Given the description of an element on the screen output the (x, y) to click on. 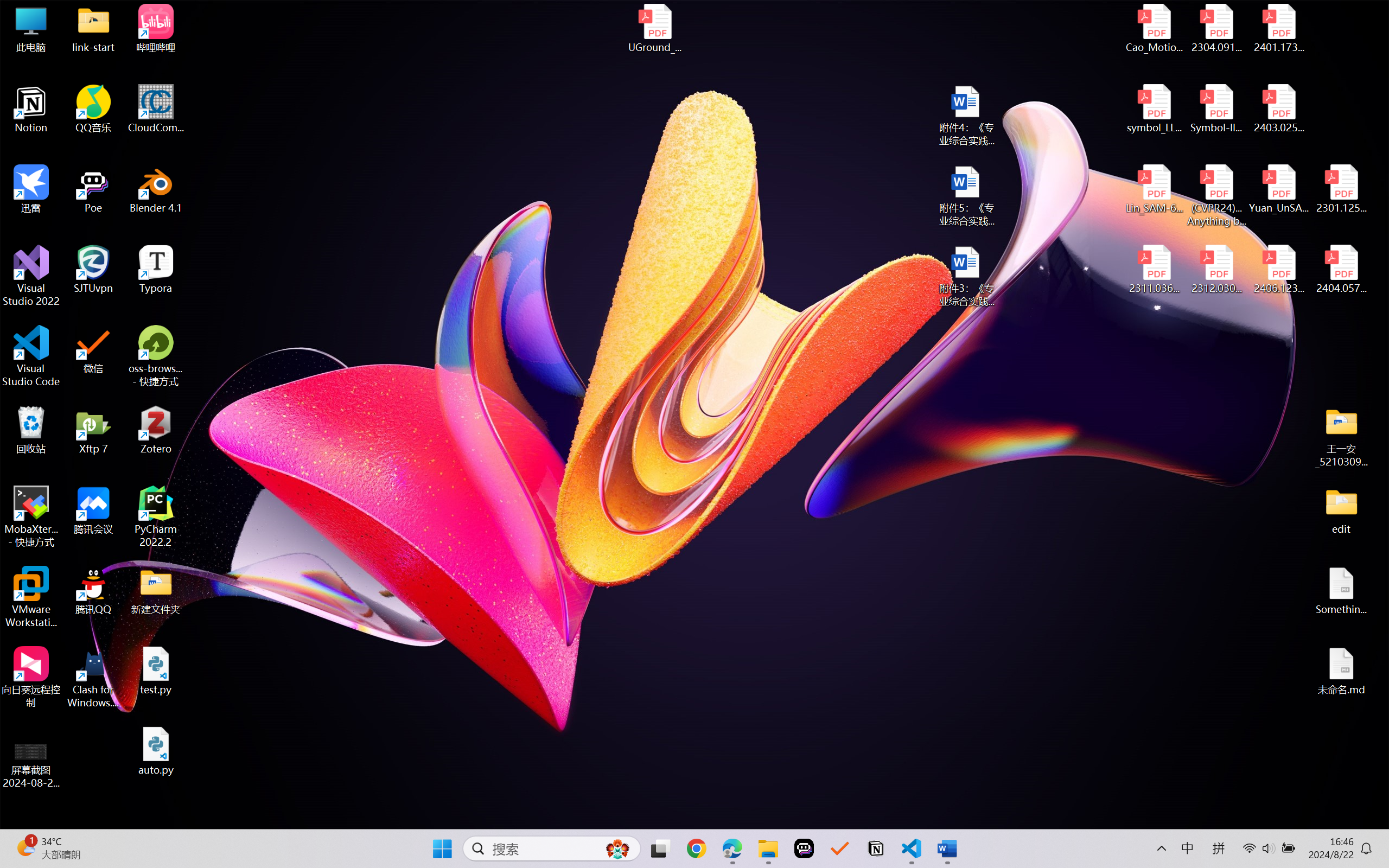
symbol_LLM.pdf (1154, 109)
Something.md (1340, 591)
2301.12597v3.pdf (1340, 189)
Typora (156, 269)
Xftp 7 (93, 430)
Google Chrome (696, 848)
